Given the description of an element on the screen output the (x, y) to click on. 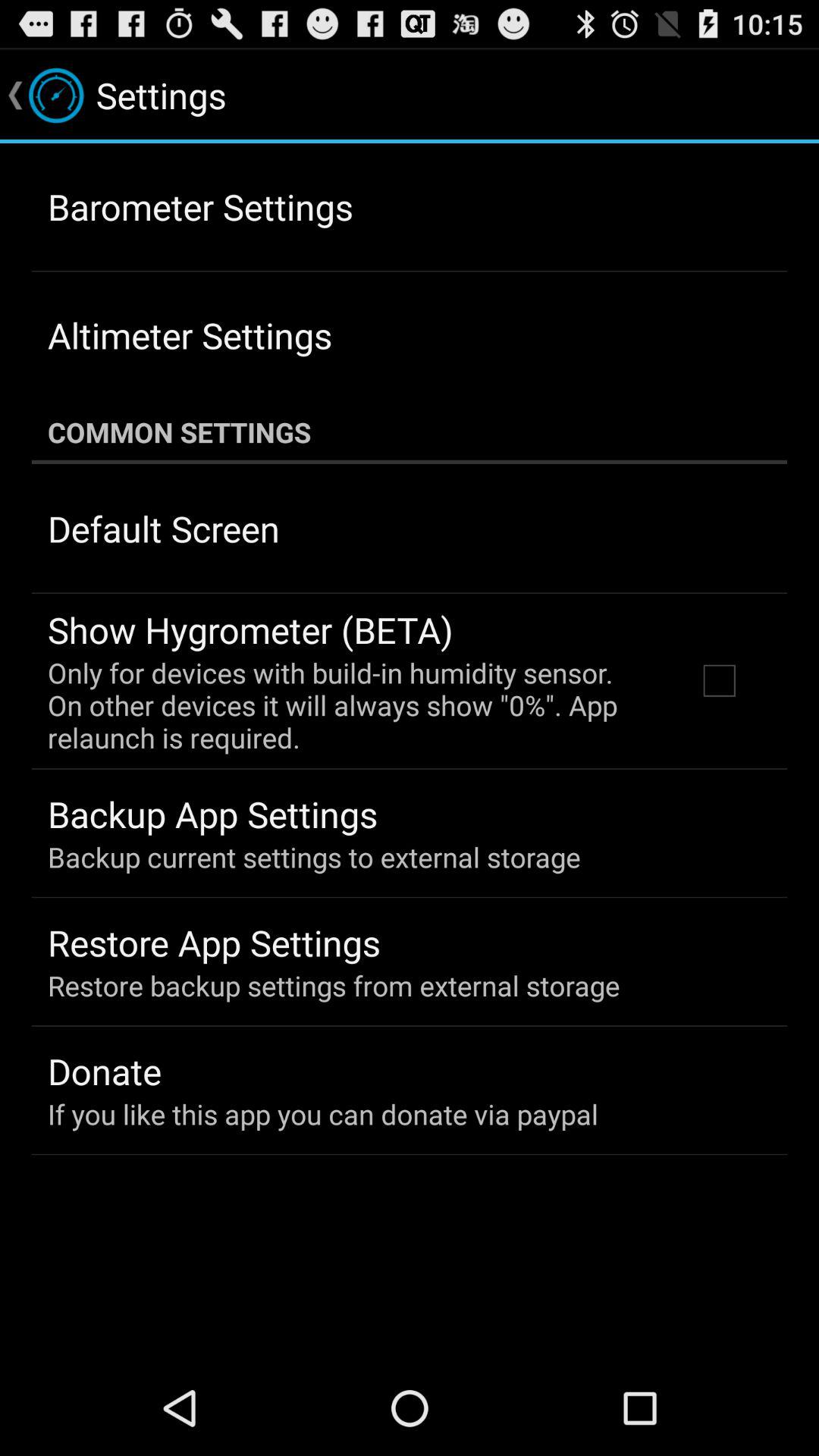
turn on app above only for devices app (250, 629)
